Given the description of an element on the screen output the (x, y) to click on. 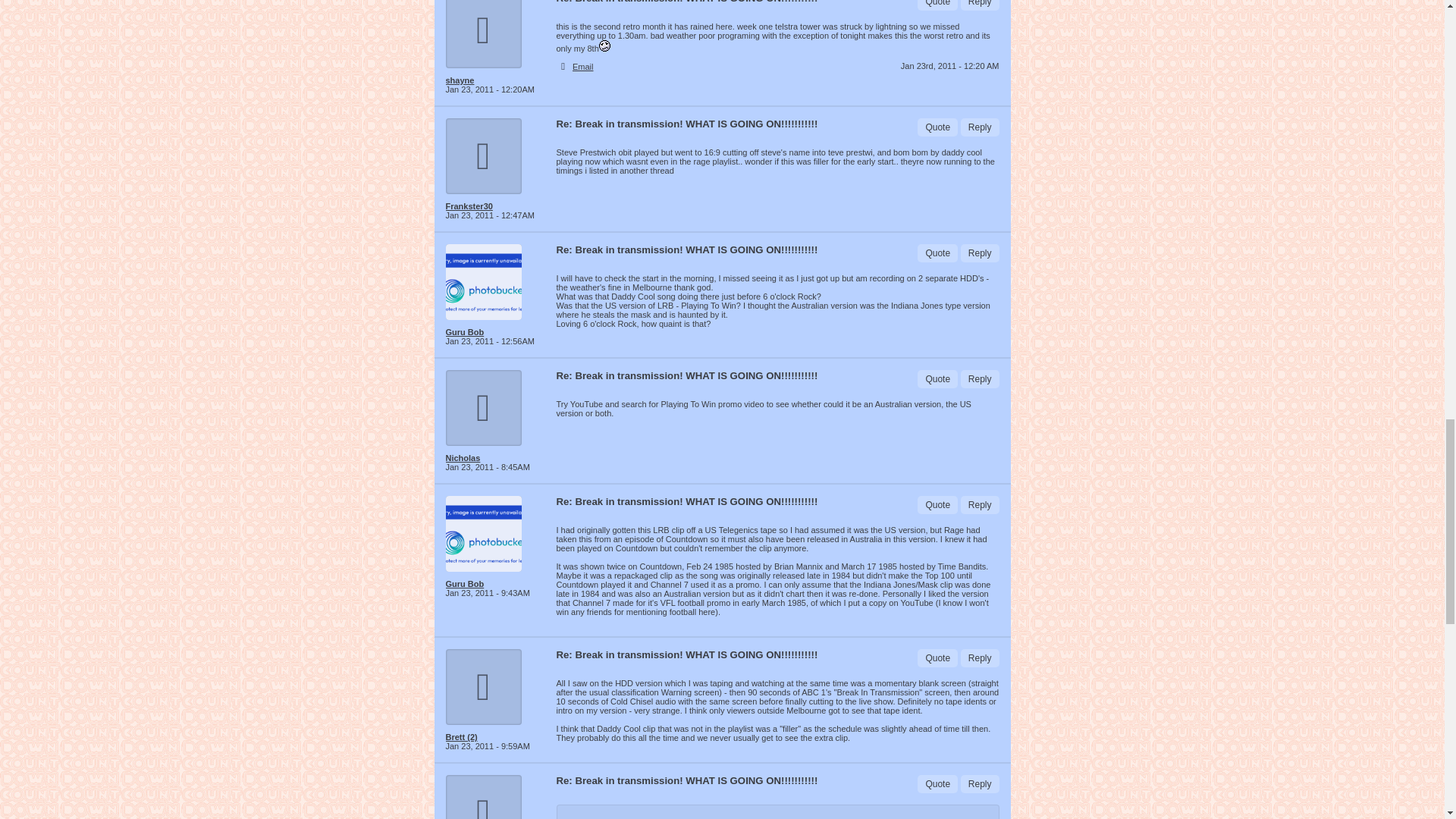
Messages from this User (462, 457)
Messages from this User (464, 583)
Messages from this User (459, 80)
Messages from this User (469, 205)
Messages from this User (461, 737)
Messages from this User (464, 331)
